Given the description of an element on the screen output the (x, y) to click on. 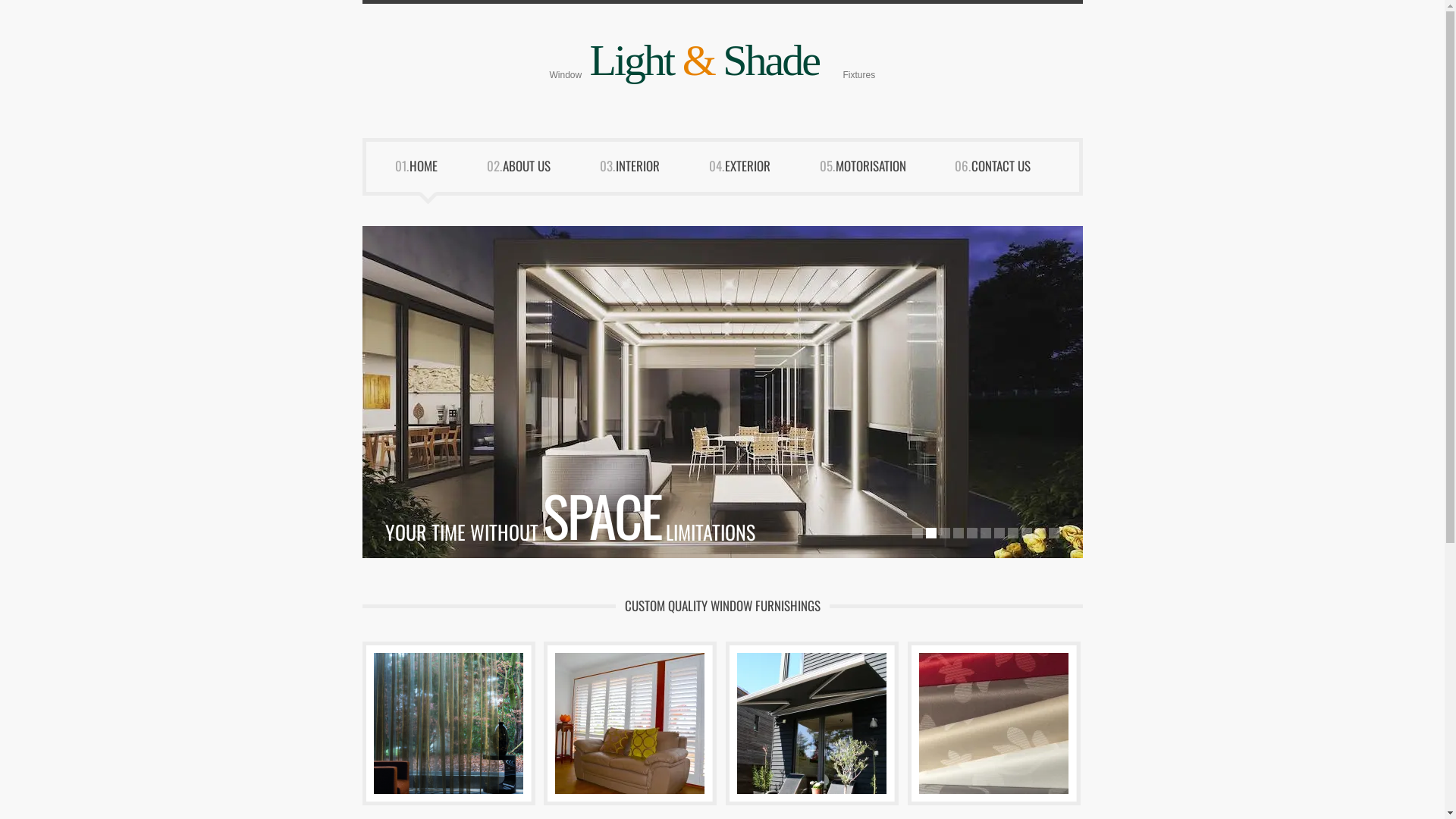
Permanent Link to Custom Curtains Element type: hover (447, 723)
3 Element type: text (943, 532)
INTERIOR Element type: text (648, 172)
10 Element type: text (1039, 532)
Light & Shade Element type: text (704, 59)
MOTORISATION Element type: text (881, 172)
7 Element type: text (998, 532)
4 Element type: text (957, 532)
11 Element type: text (1053, 532)
9 Element type: text (1025, 532)
5 Element type: text (971, 532)
1 Element type: text (916, 532)
EXTERIOR Element type: text (758, 172)
Permanent Link to Awnings Element type: hover (811, 723)
CONTACT US Element type: text (1010, 172)
ABOUT US Element type: text (536, 172)
2 Element type: text (930, 532)
Permanent Link to Quality Blinds Element type: hover (993, 723)
Permanent Link to Plantation Shutters Element type: hover (629, 723)
HOME Element type: text (434, 172)
6 Element type: text (984, 532)
8 Element type: text (1012, 532)
